Given the description of an element on the screen output the (x, y) to click on. 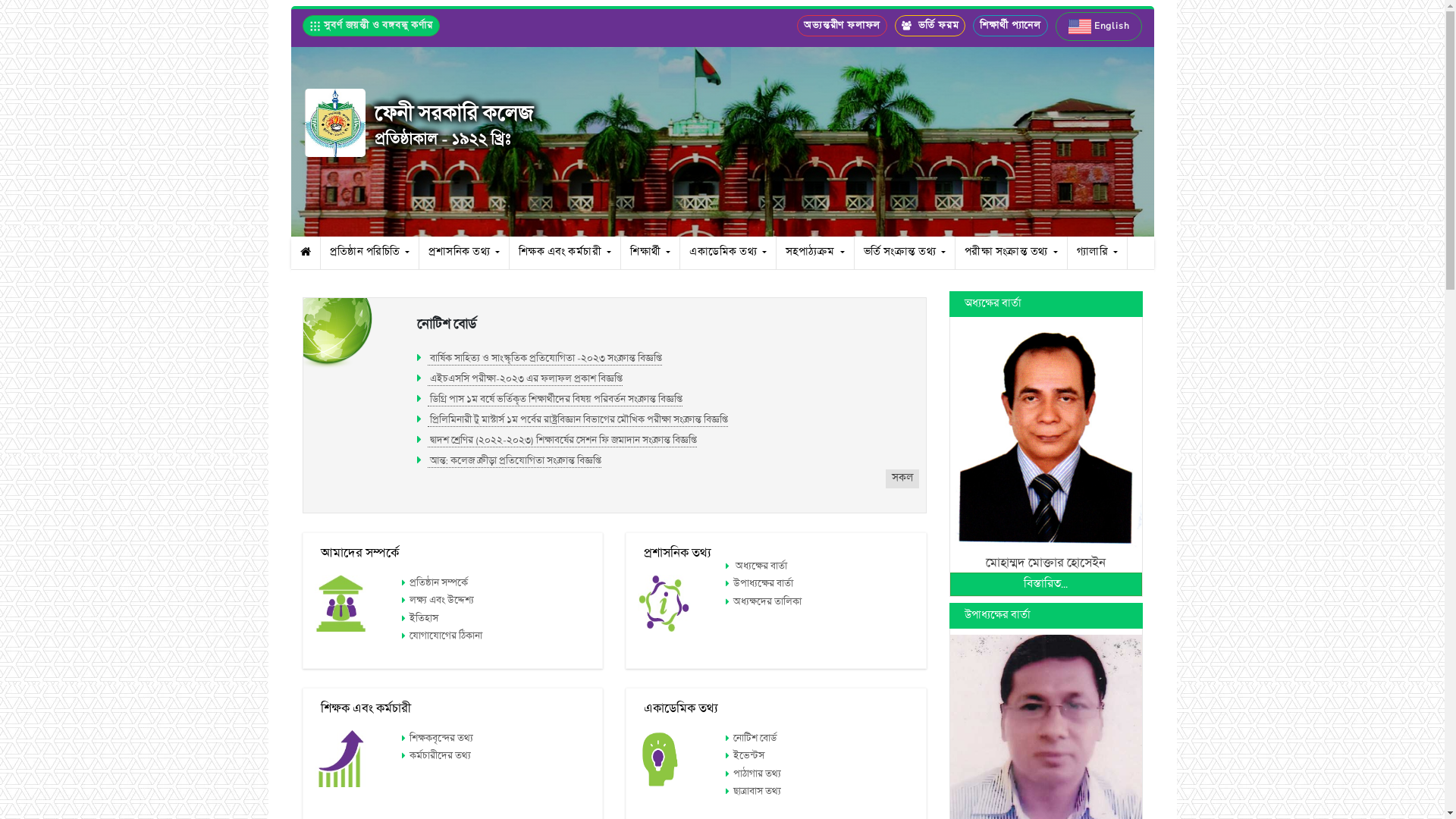
English Element type: text (1098, 26)
